Given the description of an element on the screen output the (x, y) to click on. 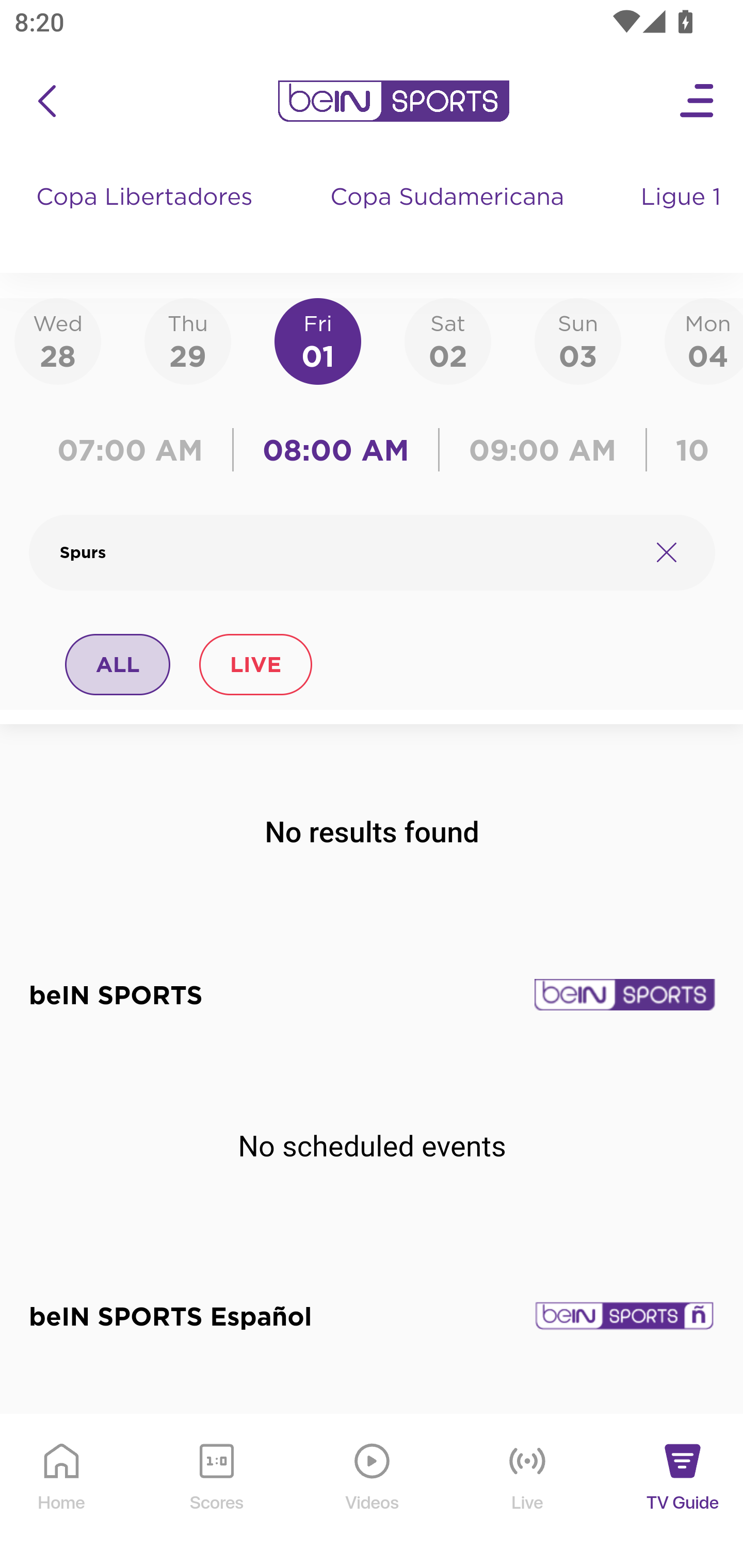
en-us?platform=mobile_android bein logo (392, 101)
icon back (46, 101)
Open Menu Icon (697, 101)
Copa Libertadores (146, 216)
Copa Sudamericana (448, 216)
Ligue 1 (682, 216)
Wed28 (58, 340)
Thu29 (187, 340)
Fri01 (318, 340)
Sat02 (447, 340)
Sun03 (578, 340)
Mon04 (703, 340)
07:00 AM (135, 449)
08:00 AM (336, 449)
09:00 AM (542, 449)
Spurs (346, 552)
ALL (118, 663)
LIVE (255, 663)
Home Home Icon Home (61, 1491)
Scores Scores Icon Scores (216, 1491)
Videos Videos Icon Videos (372, 1491)
TV Guide TV Guide Icon TV Guide (682, 1491)
